Given the description of an element on the screen output the (x, y) to click on. 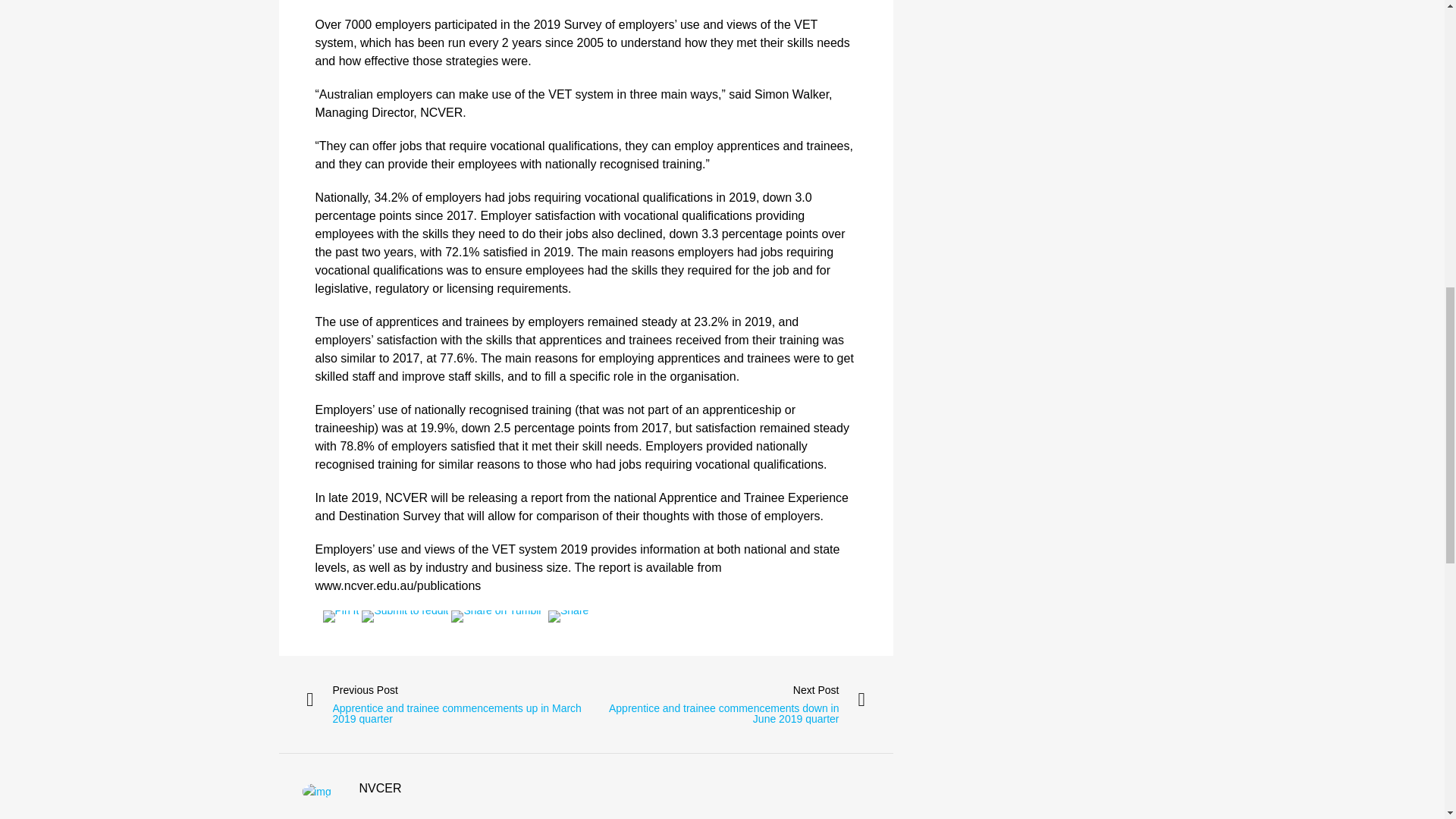
Share on Tumblr (496, 616)
Pin It (341, 616)
Submit to reddit (404, 616)
